Given the description of an element on the screen output the (x, y) to click on. 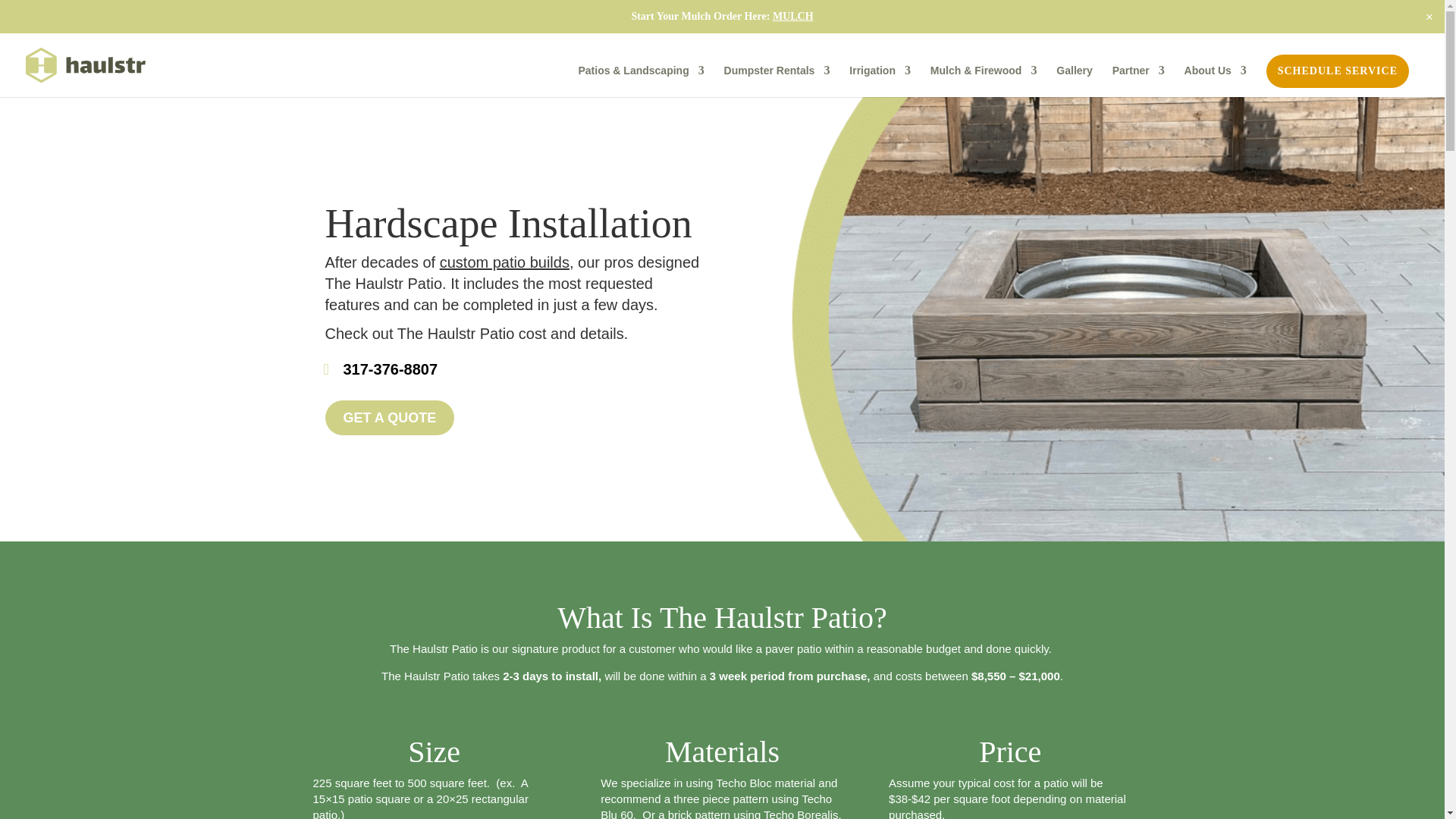
About Us (1215, 81)
MULCH (793, 16)
Gallery (1074, 81)
Irrigation (879, 81)
Partner (1138, 81)
SCHEDULE SERVICE (1337, 70)
Dumpster Rentals (776, 81)
